Given the description of an element on the screen output the (x, y) to click on. 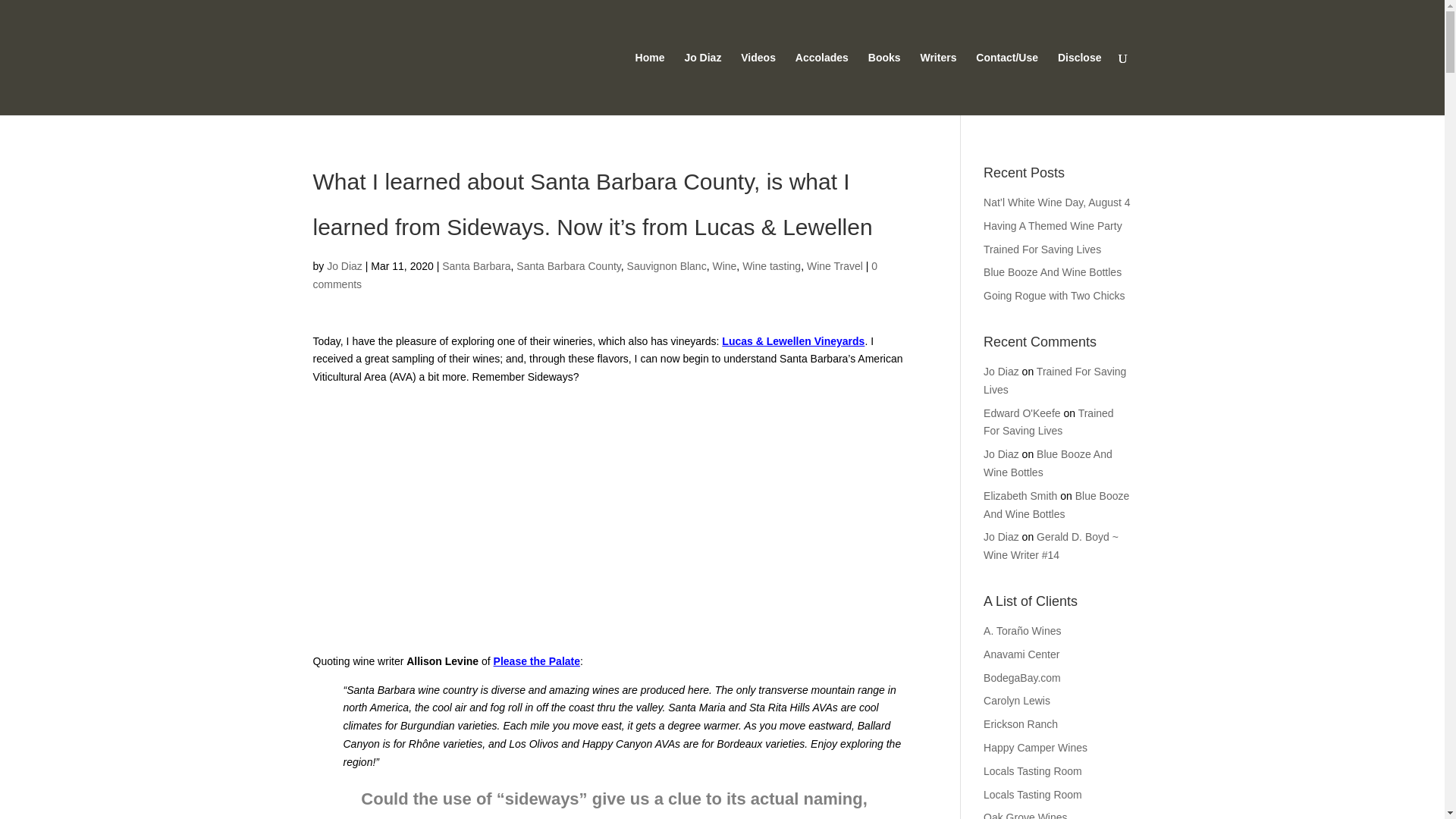
Jo Diaz (1001, 371)
Blue Booze And Wine Bottles (1048, 462)
Handcrafted Artisan Wineries in Geyserville, CA (1032, 794)
Trained For Saving Lives (1042, 249)
Wine tasting (771, 265)
0 comments (595, 275)
Santa Barbara (476, 265)
The official website of Bodgea Bay (1022, 677)
Wine Travel (834, 265)
Where Fresh is a destination (1021, 724)
